Given the description of an element on the screen output the (x, y) to click on. 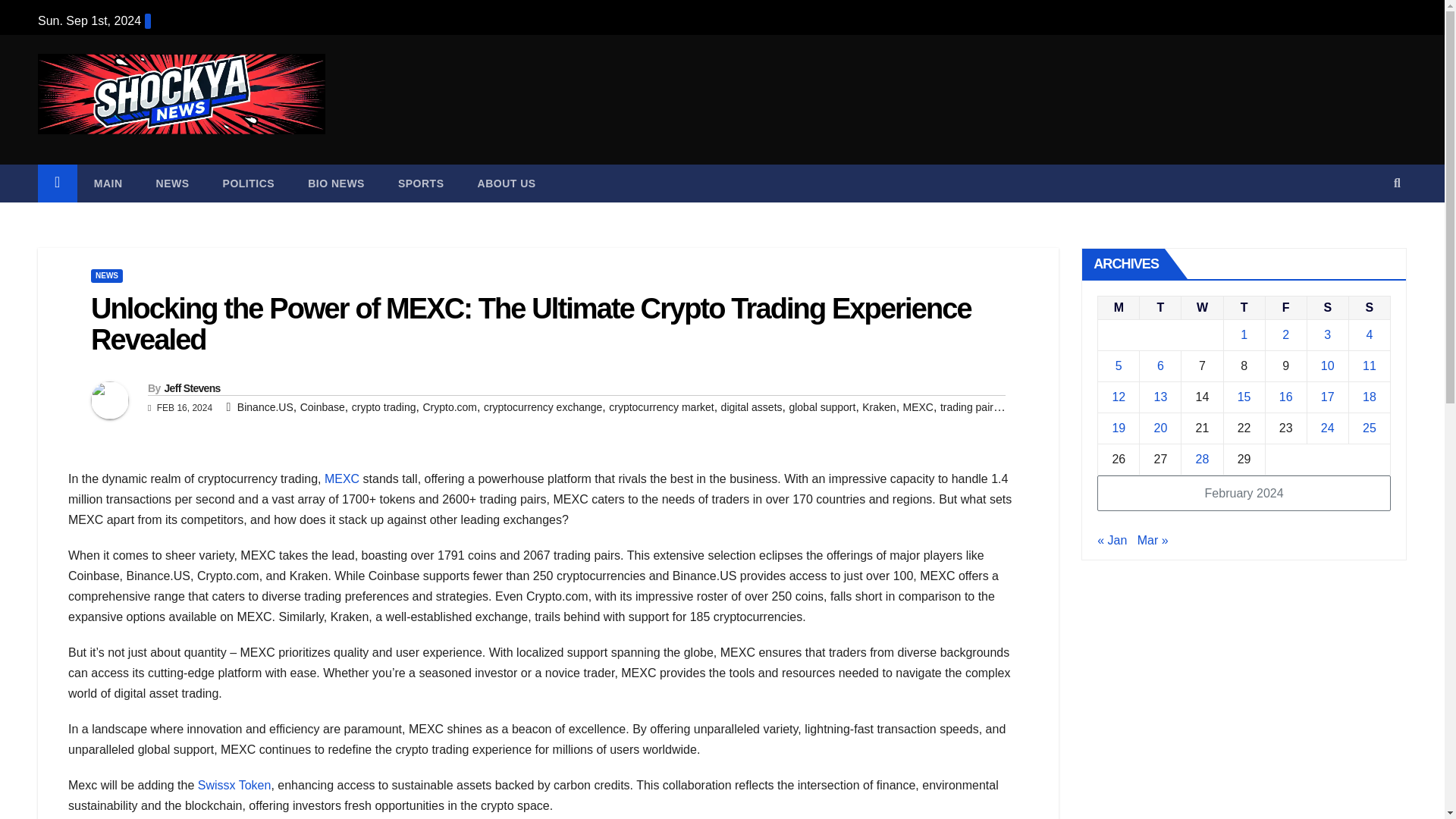
Swissx Token (234, 784)
MAIN (108, 183)
Saturday (1327, 307)
Friday (1285, 307)
Coinbase (322, 407)
Wednesday (1201, 307)
NEWS (172, 183)
BIO NEWS (336, 183)
MAIN (108, 183)
cryptocurrency market (660, 407)
